Given the description of an element on the screen output the (x, y) to click on. 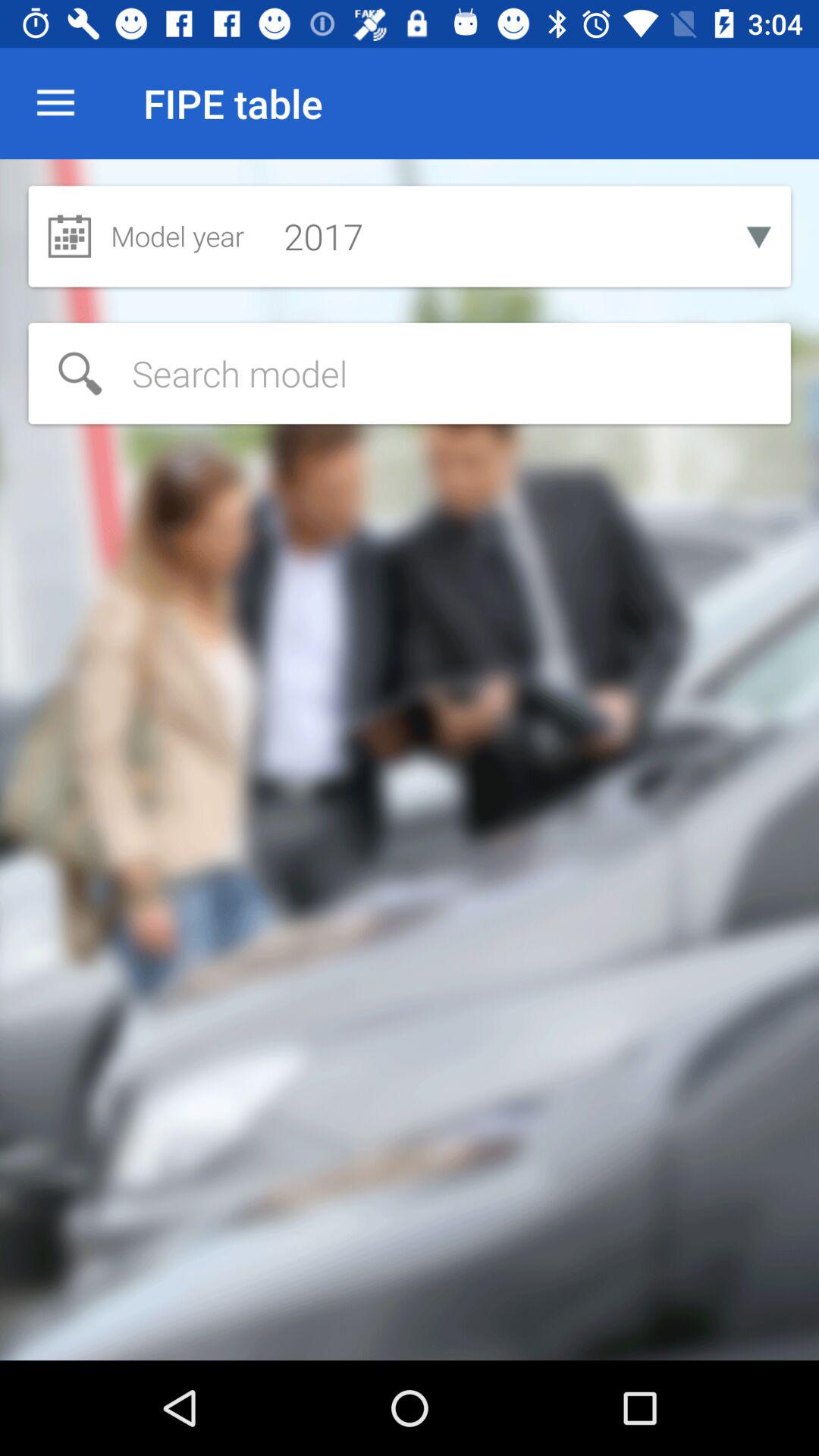
open the item to the left of fipe table (55, 103)
